Given the description of an element on the screen output the (x, y) to click on. 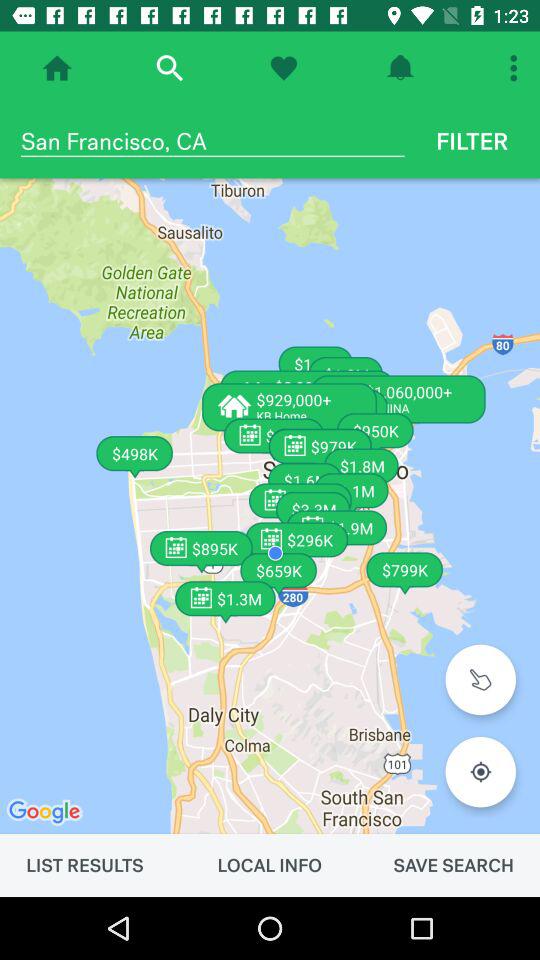
access alerts (400, 68)
